Given the description of an element on the screen output the (x, y) to click on. 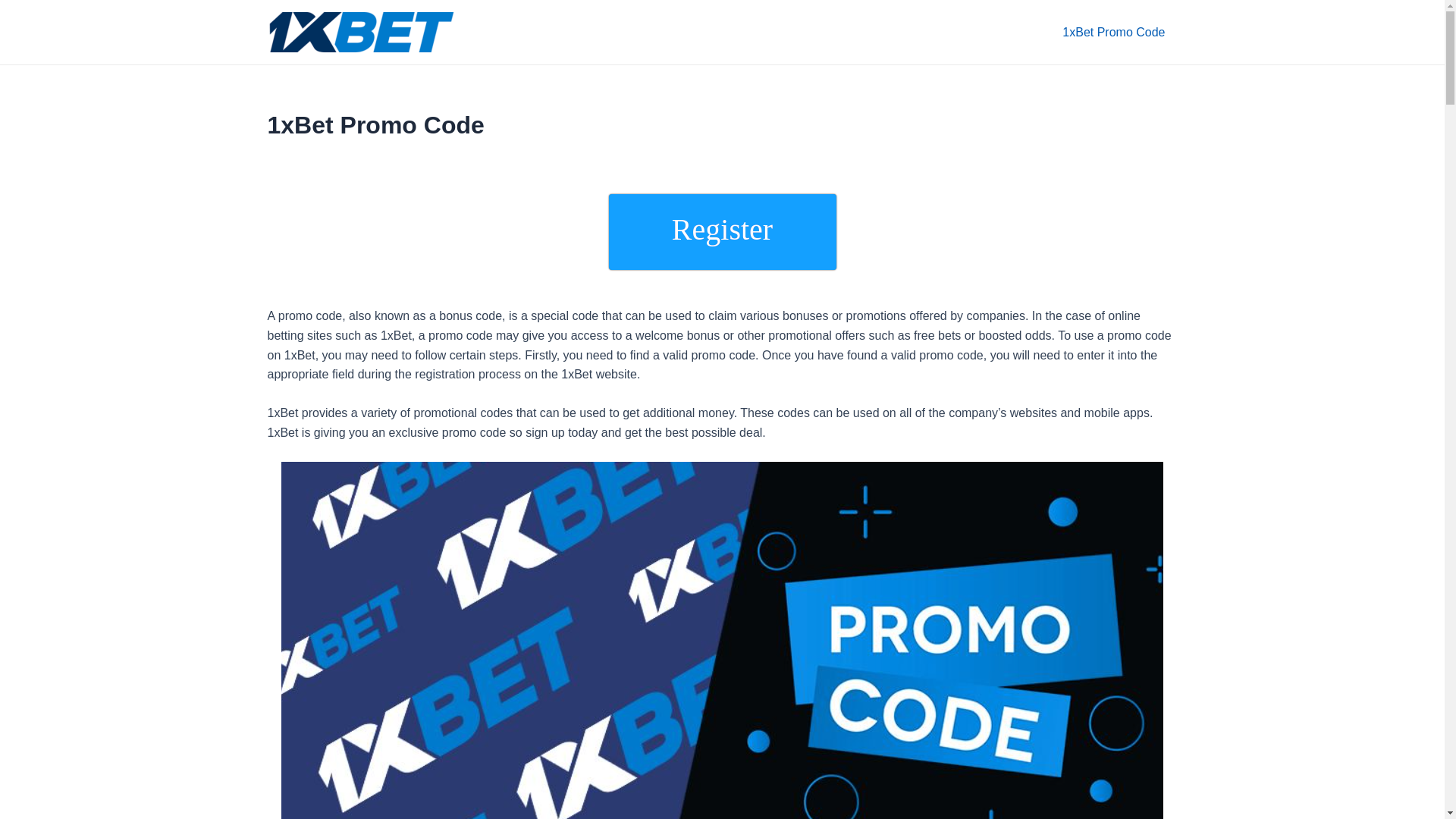
1xBet Promo Code Element type: text (1113, 31)
Register Element type: text (721, 231)
